Given the description of an element on the screen output the (x, y) to click on. 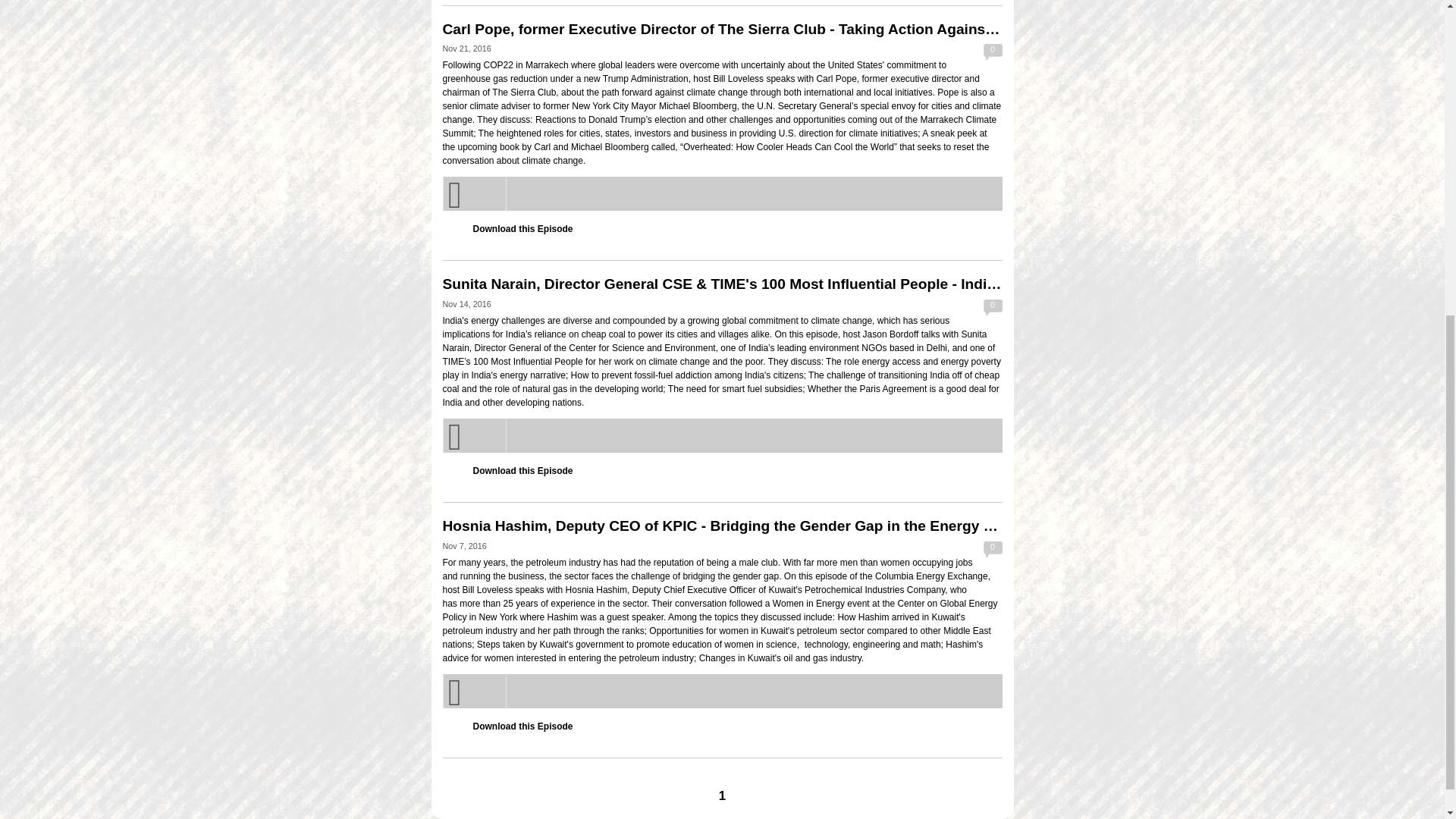
Libsyn Player (722, 435)
Libsyn Player (722, 193)
Libsyn Player (722, 691)
